Given the description of an element on the screen output the (x, y) to click on. 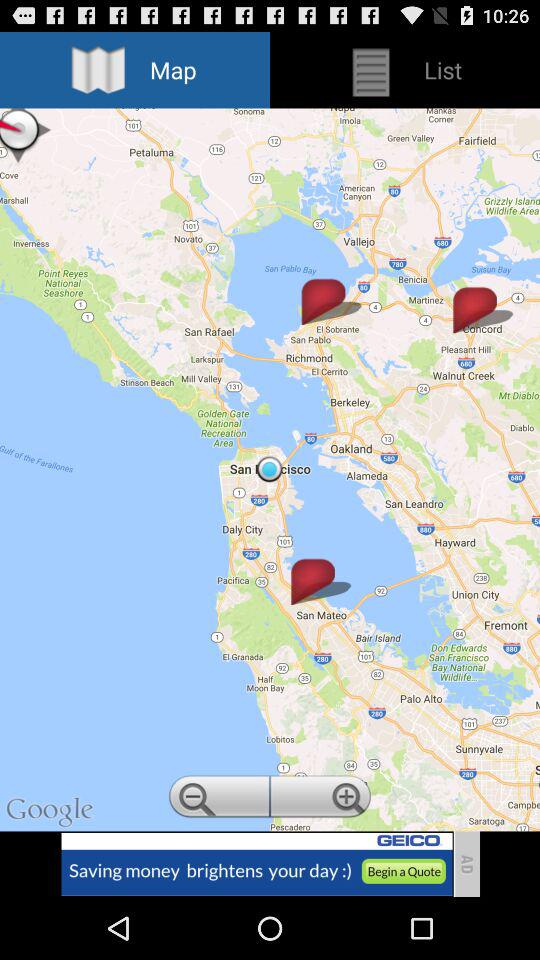
visit advertiser (256, 864)
